Given the description of an element on the screen output the (x, y) to click on. 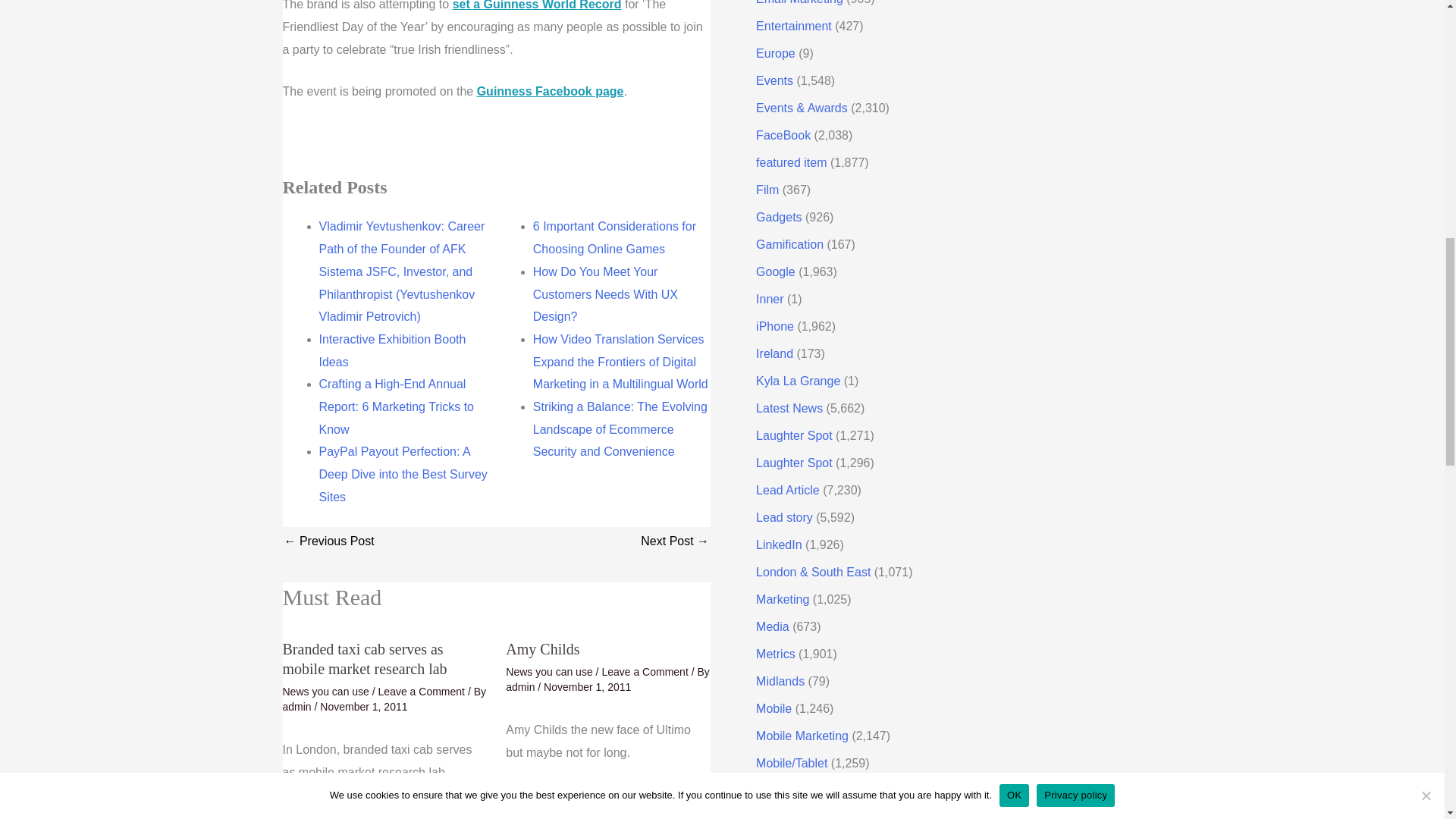
View all posts by admin (521, 686)
View all posts by admin (298, 706)
